Given the description of an element on the screen output the (x, y) to click on. 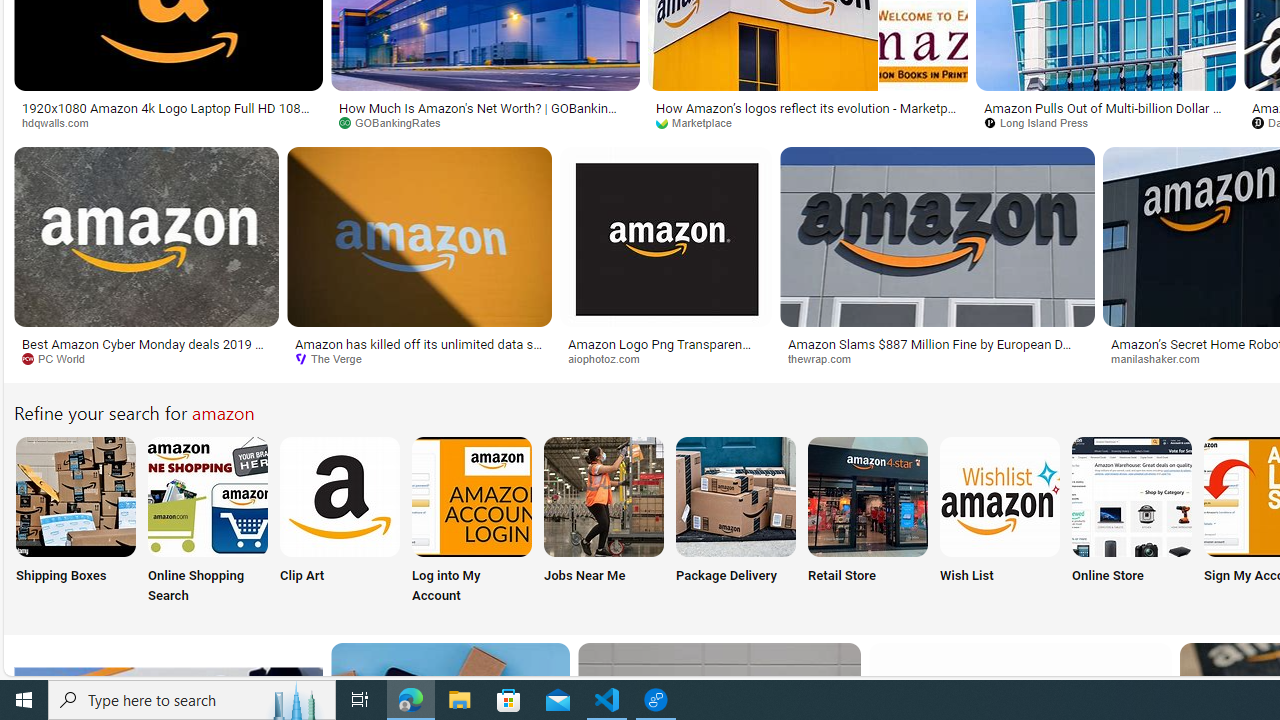
manilashaker.com (1162, 358)
Amazon Wish List Wish List (999, 521)
Jobs Near Me (604, 521)
Clip Art (339, 521)
GOBankingRates (485, 123)
Marketplace (807, 123)
Retail Store (867, 521)
Amazon Jobs Near Me (604, 496)
